Given the description of an element on the screen output the (x, y) to click on. 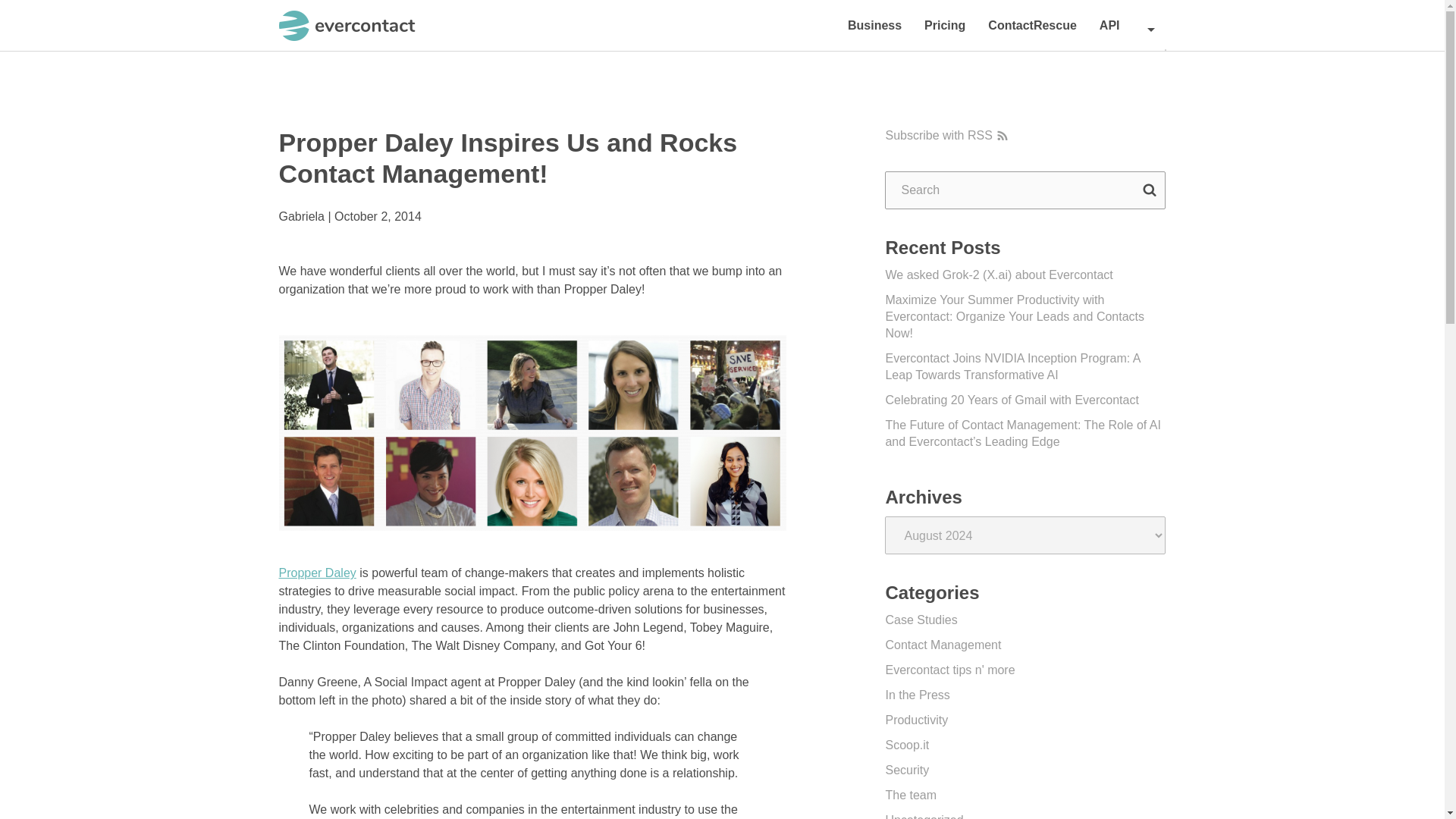
Evercontact tips n' more (949, 669)
Pricing (944, 25)
Security (906, 769)
Productivity (916, 719)
Subscribe with RSS (946, 135)
Case Studies (920, 619)
Scoop.it (906, 744)
Celebrating 20 Years of Gmail with Evercontact (1011, 399)
In the Press (917, 694)
ContactRescue (1031, 25)
